Given the description of an element on the screen output the (x, y) to click on. 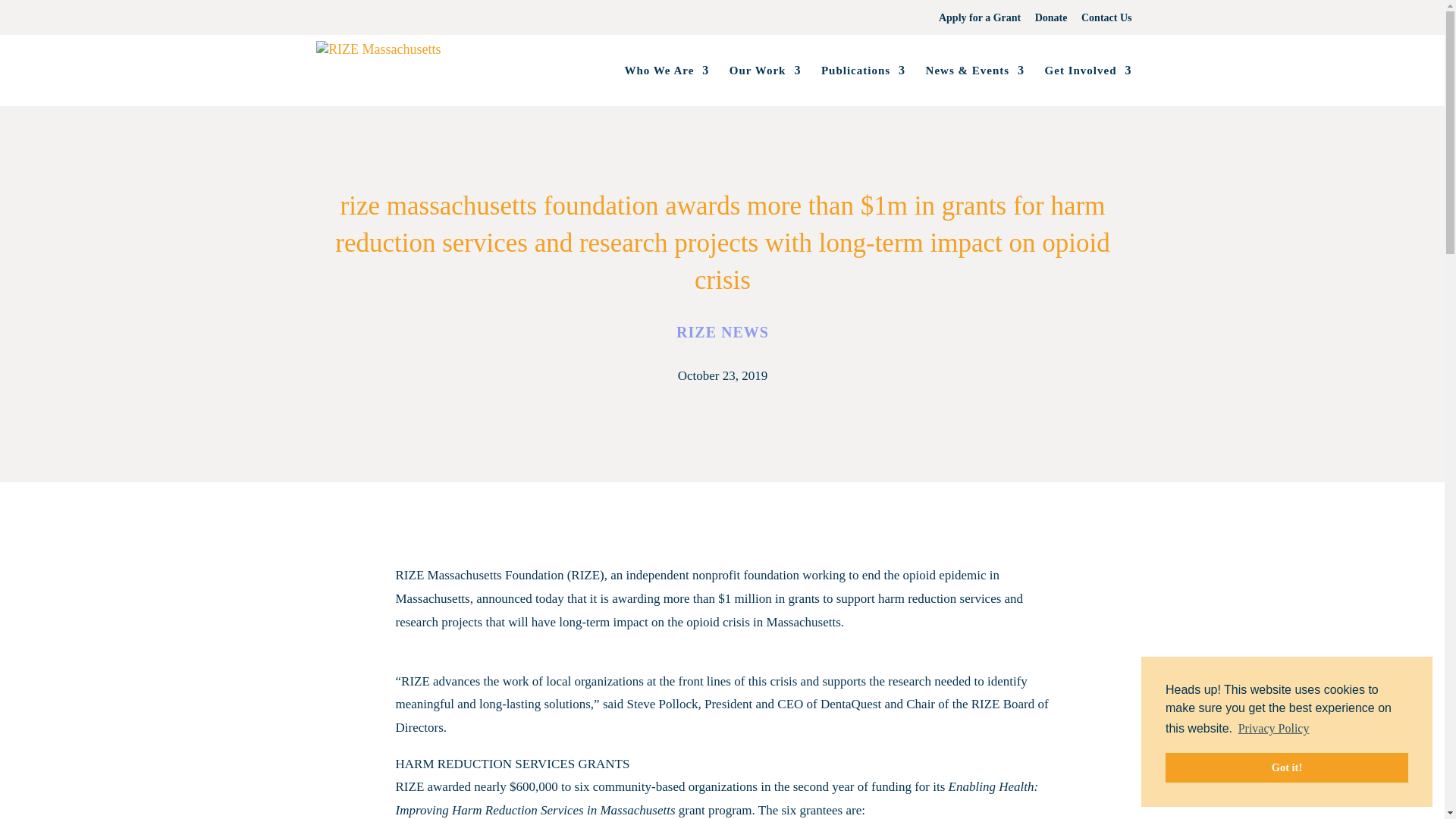
Donate (1051, 21)
Got it! (1286, 767)
Who We Are (666, 85)
Get Involved (1088, 85)
Apply for a Grant (979, 21)
Contact Us (1106, 21)
Privacy Policy (1272, 728)
Our Work (765, 85)
Publications (863, 85)
